Given the description of an element on the screen output the (x, y) to click on. 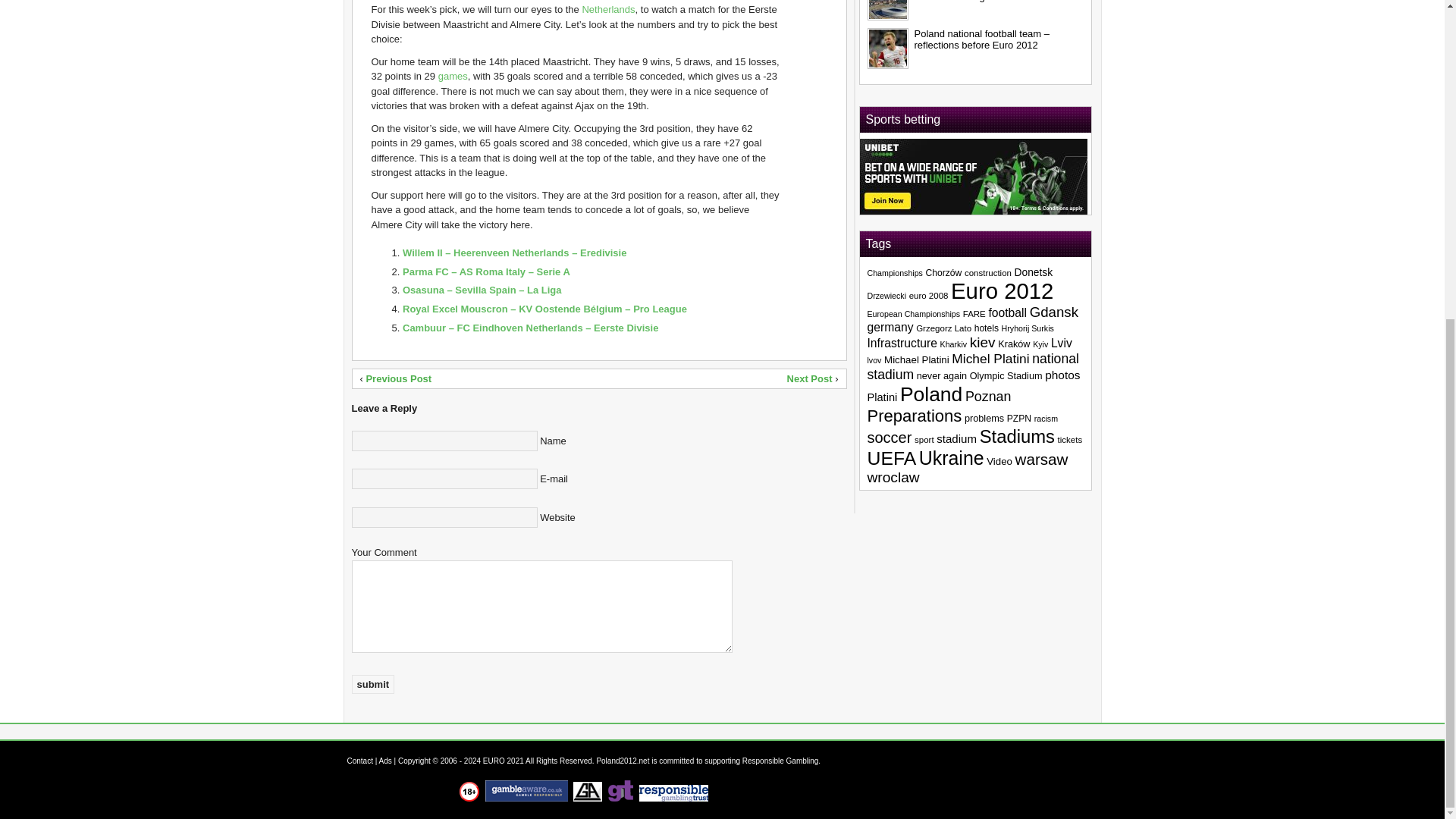
submit (373, 683)
games (452, 75)
Netherlands (607, 9)
